Given the description of an element on the screen output the (x, y) to click on. 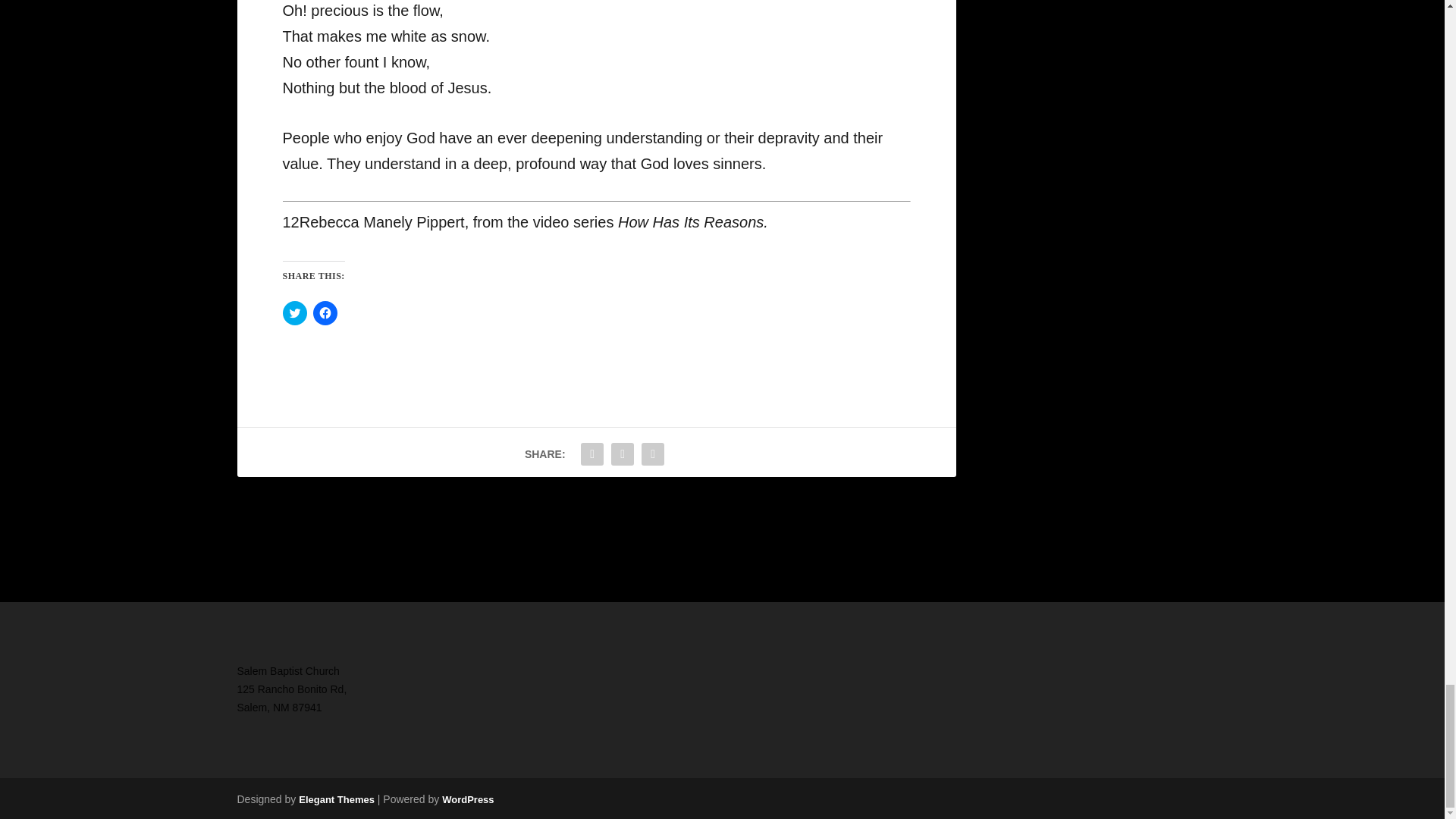
Click to share on Facebook (324, 313)
Click to share on Twitter (293, 313)
Share "Enjoying God and the cross" via Facebook (591, 453)
Elegant Themes (336, 799)
WordPress (467, 799)
Share "Enjoying God and the cross" via Twitter (622, 453)
Premium WordPress Themes (336, 799)
